Given the description of an element on the screen output the (x, y) to click on. 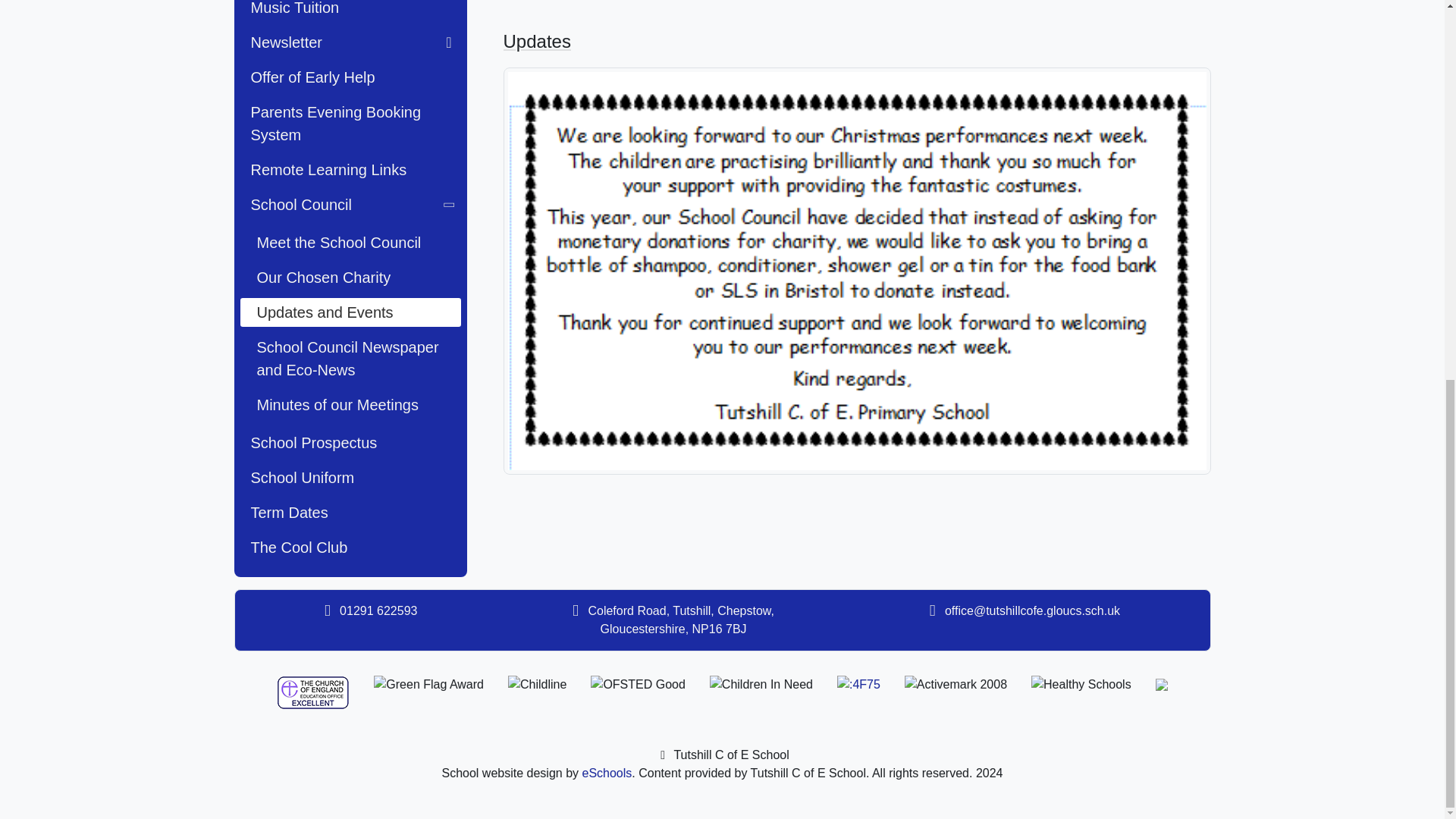
OFSTED Good (637, 684)
SIAMS Excellent (312, 692)
Healthy Schools (1080, 684)
Childline (537, 684)
Children In Need (761, 684)
Green Flag Award (428, 684)
:4F75 (858, 684)
Activemark 2008 (955, 684)
